Given the description of an element on the screen output the (x, y) to click on. 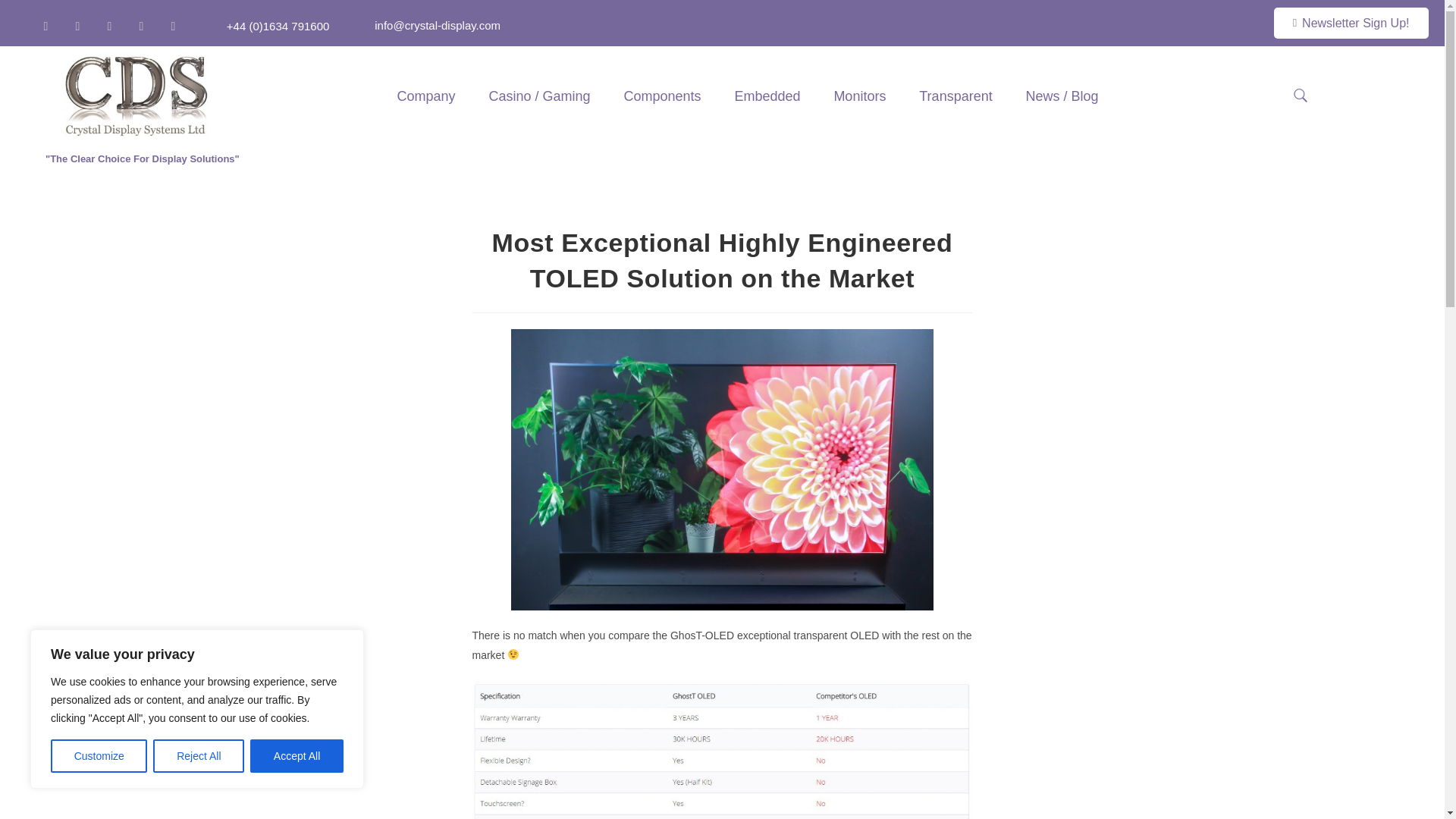
Customize (98, 756)
Accept All (296, 756)
Reject All (198, 756)
Components (661, 96)
Company (426, 96)
